Given the description of an element on the screen output the (x, y) to click on. 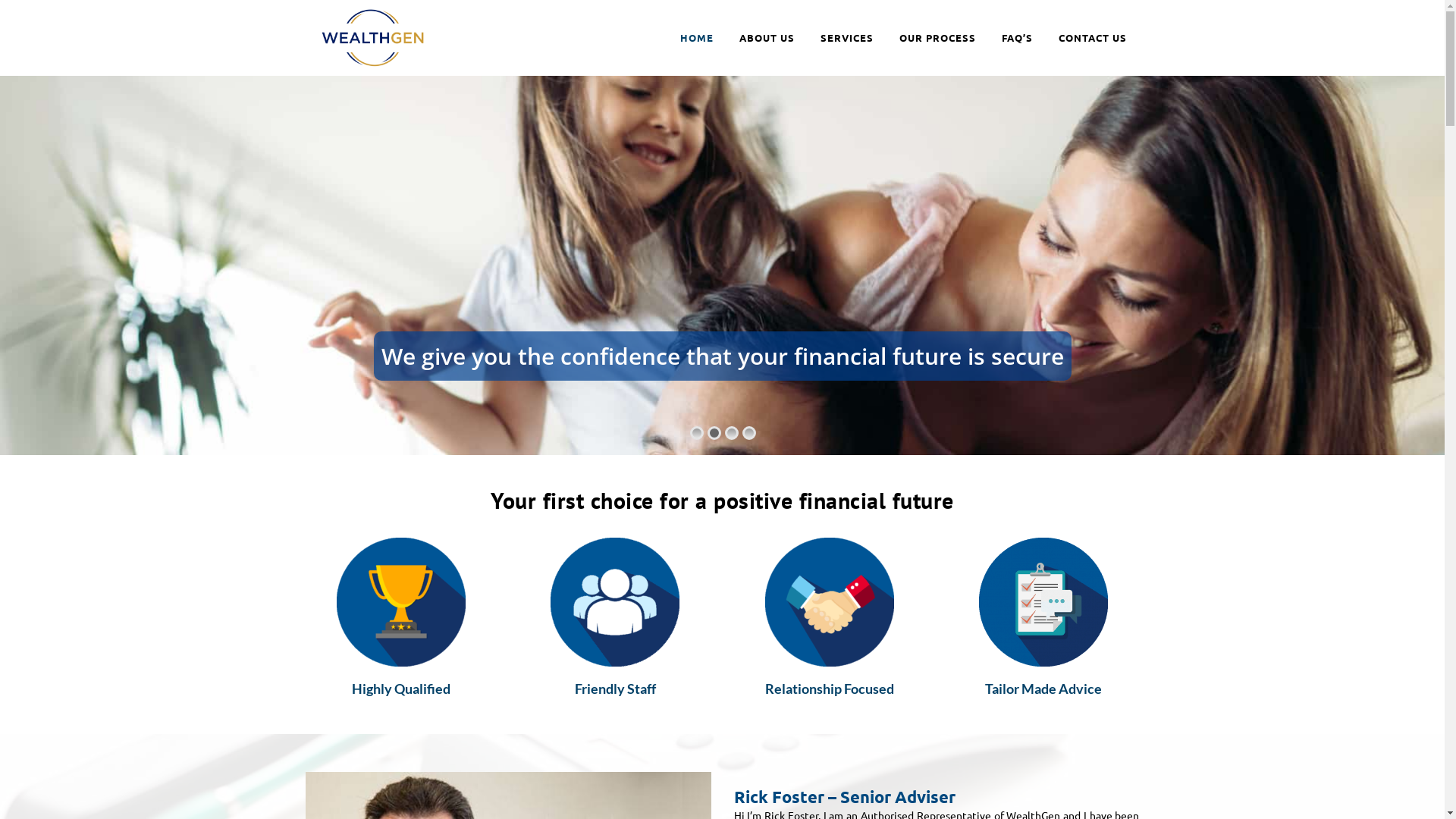
ABOUT US Element type: text (766, 37)
OUR PROCESS Element type: text (936, 37)
CONTACT US Element type: text (1091, 37)
HOME Element type: text (696, 37)
SERVICES Element type: text (845, 37)
